Given the description of an element on the screen output the (x, y) to click on. 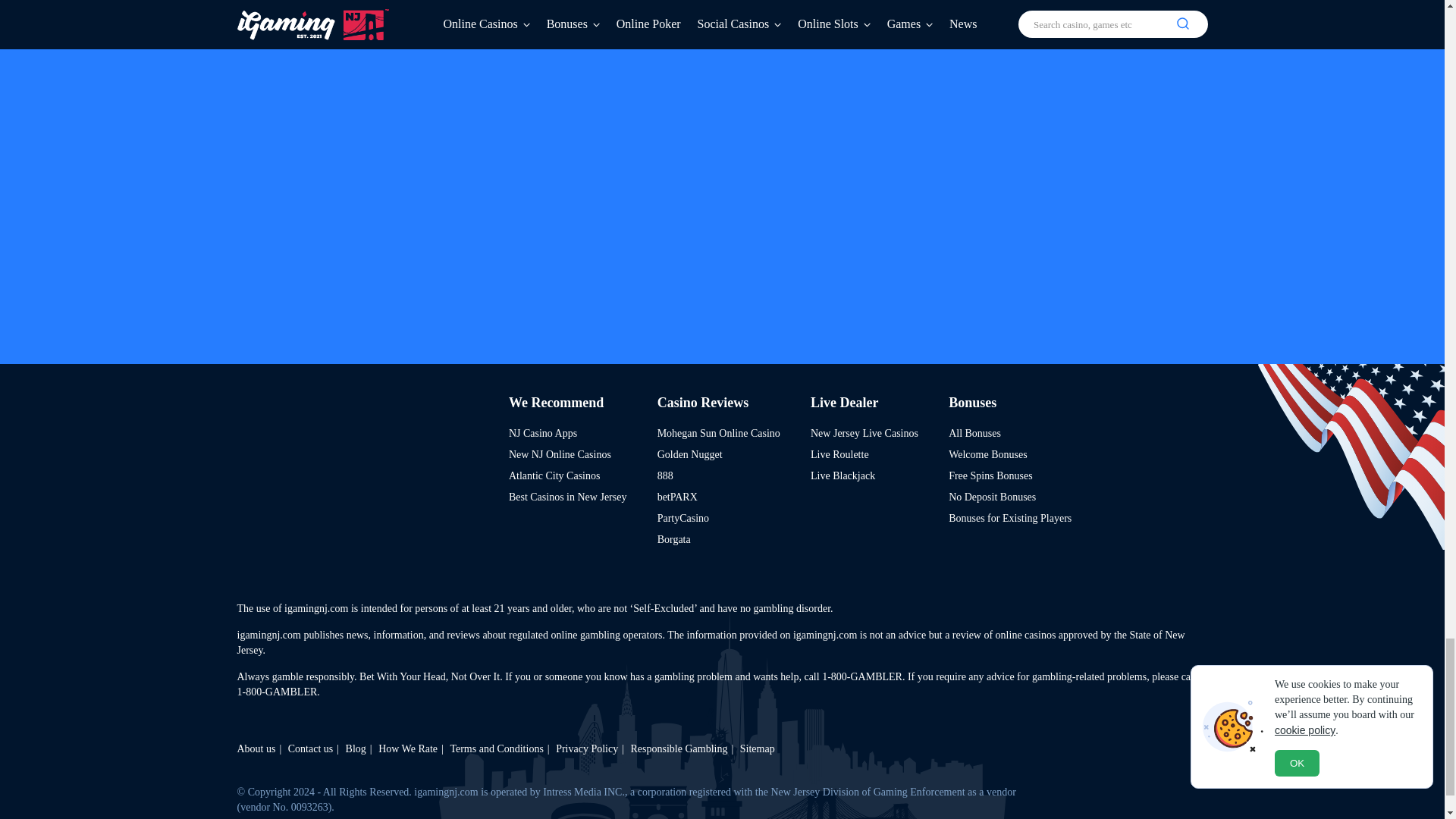
Meet the team (255, 748)
